Given the description of an element on the screen output the (x, y) to click on. 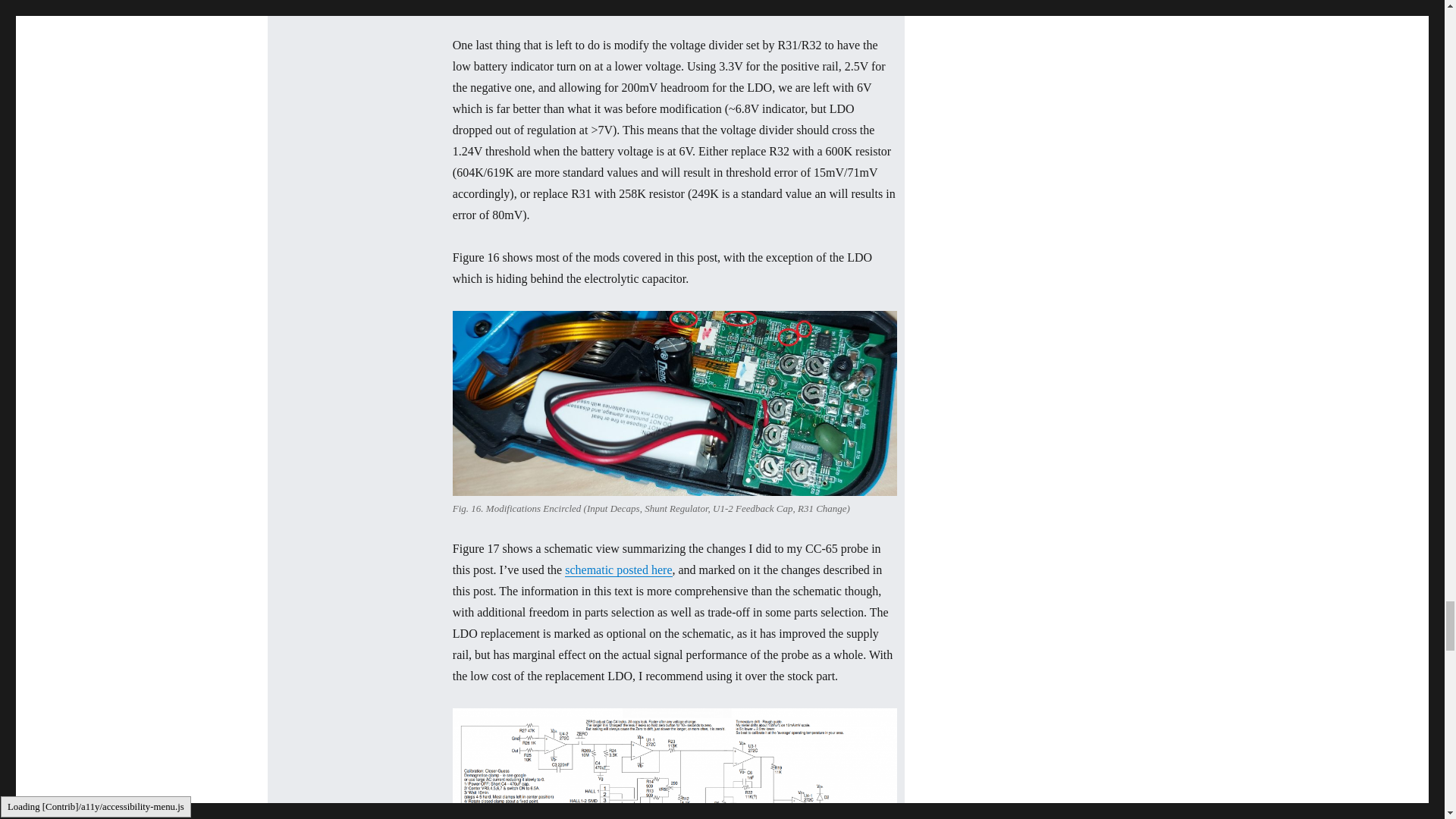
schematic posted here (617, 569)
